Given the description of an element on the screen output the (x, y) to click on. 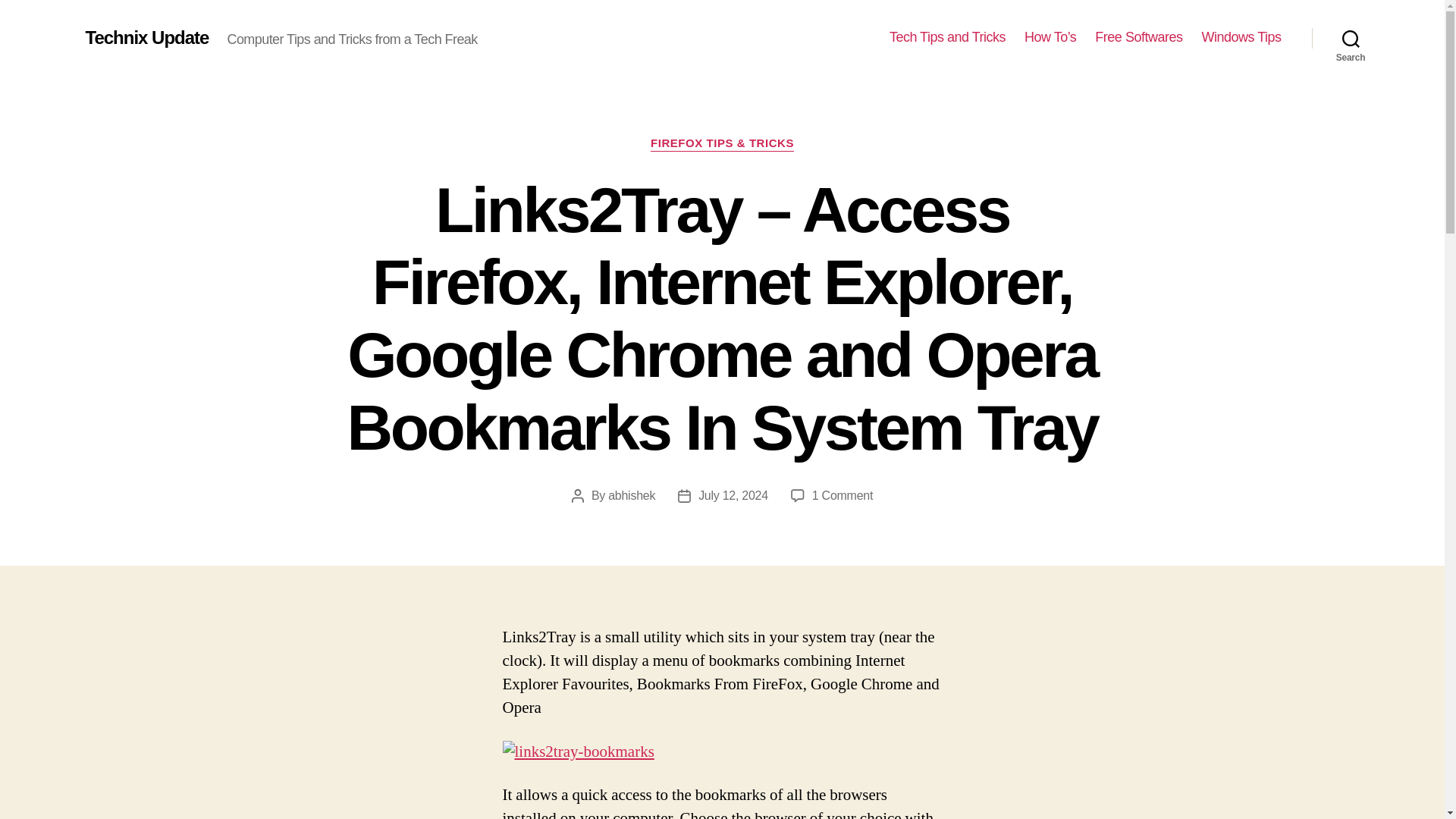
abhishek (631, 495)
Technix Update (146, 37)
links2tray-bookmarks (577, 752)
July 12, 2024 (733, 495)
Search (1350, 37)
Windows Tips (1241, 37)
Tech Tips and Tricks (947, 37)
Free Softwares (1138, 37)
